Given the description of an element on the screen output the (x, y) to click on. 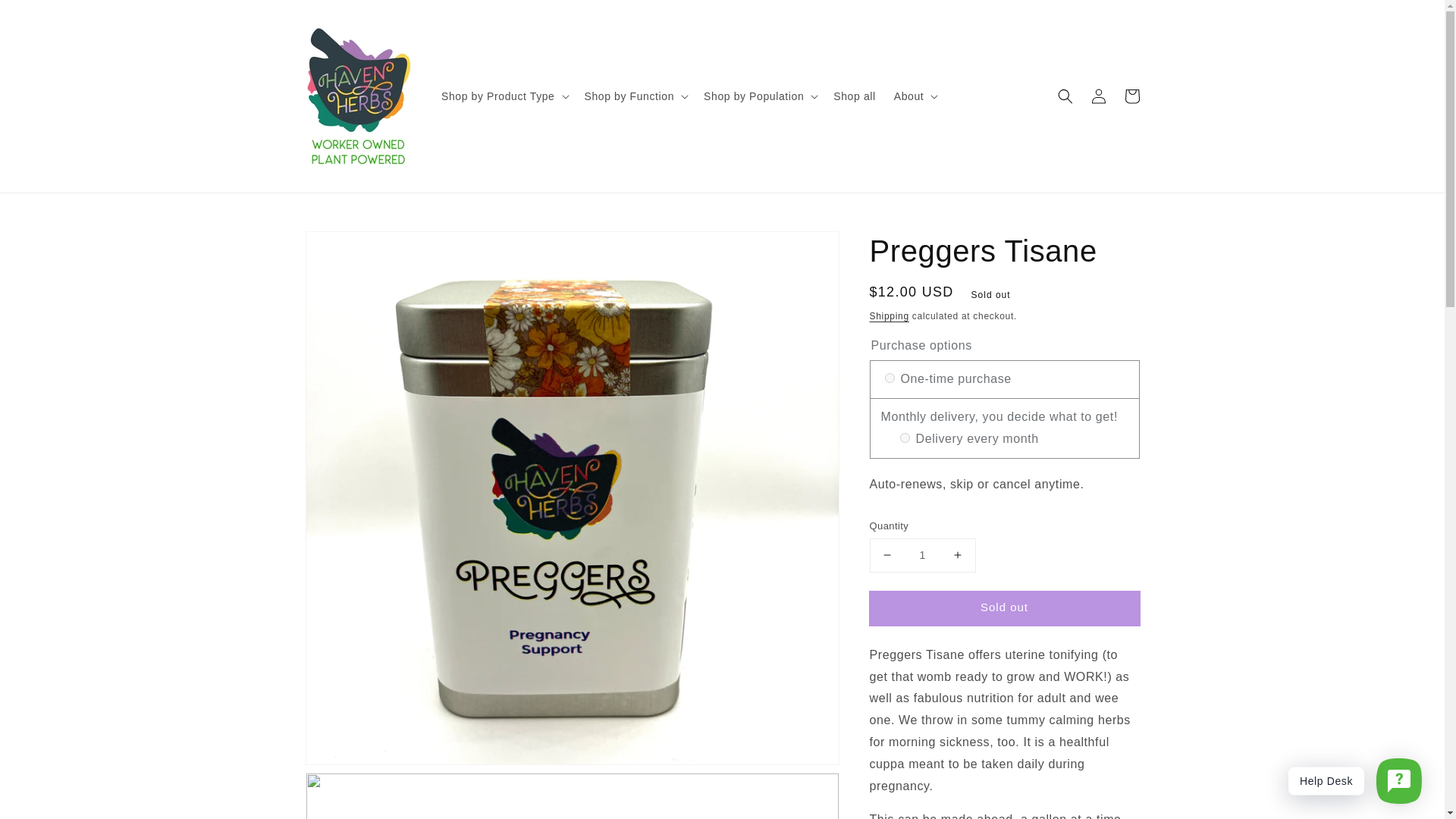
on (888, 378)
Skip to content (45, 16)
on (903, 438)
1 (922, 554)
